Given the description of an element on the screen output the (x, y) to click on. 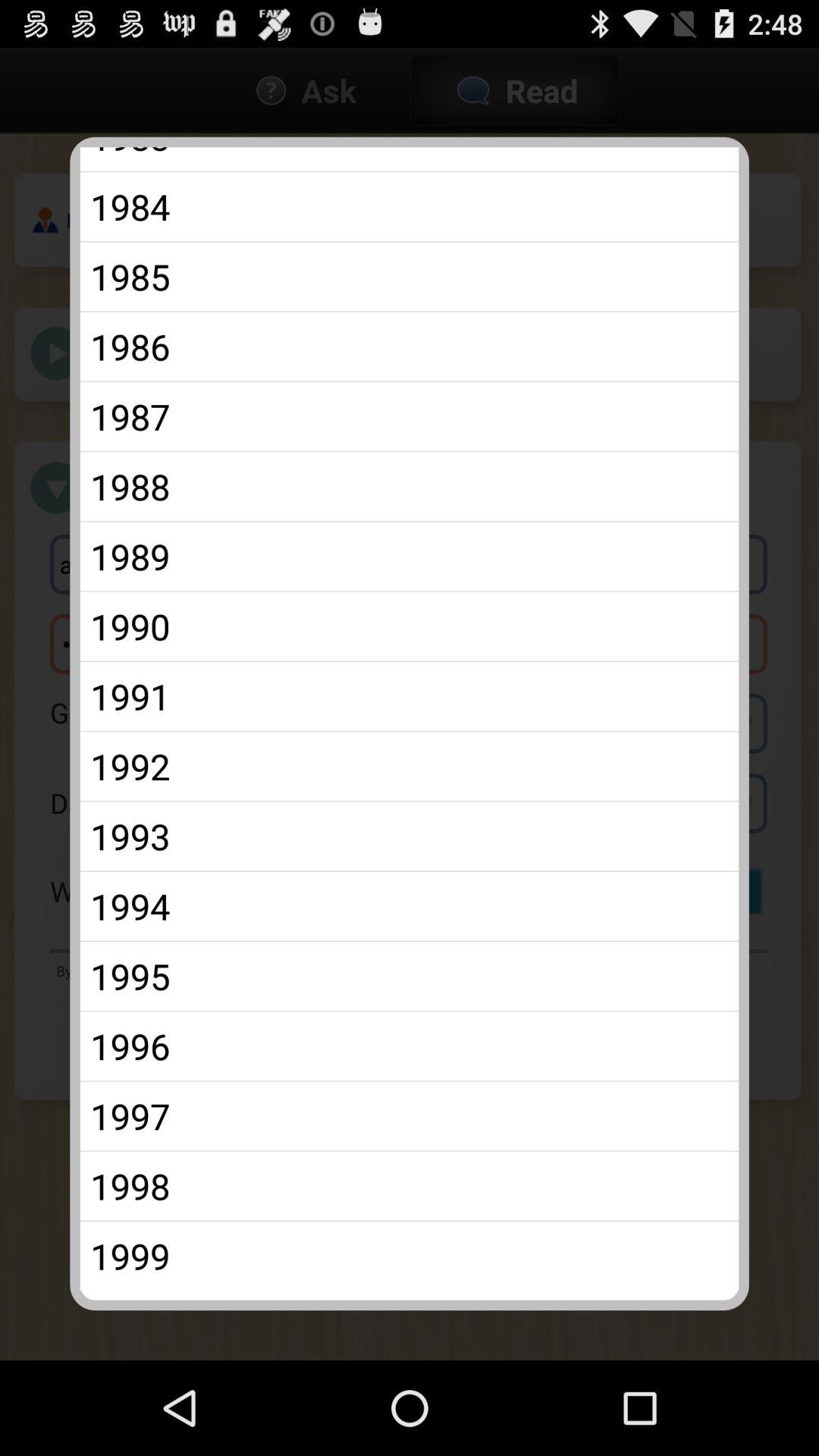
click the 1994 app (409, 905)
